Given the description of an element on the screen output the (x, y) to click on. 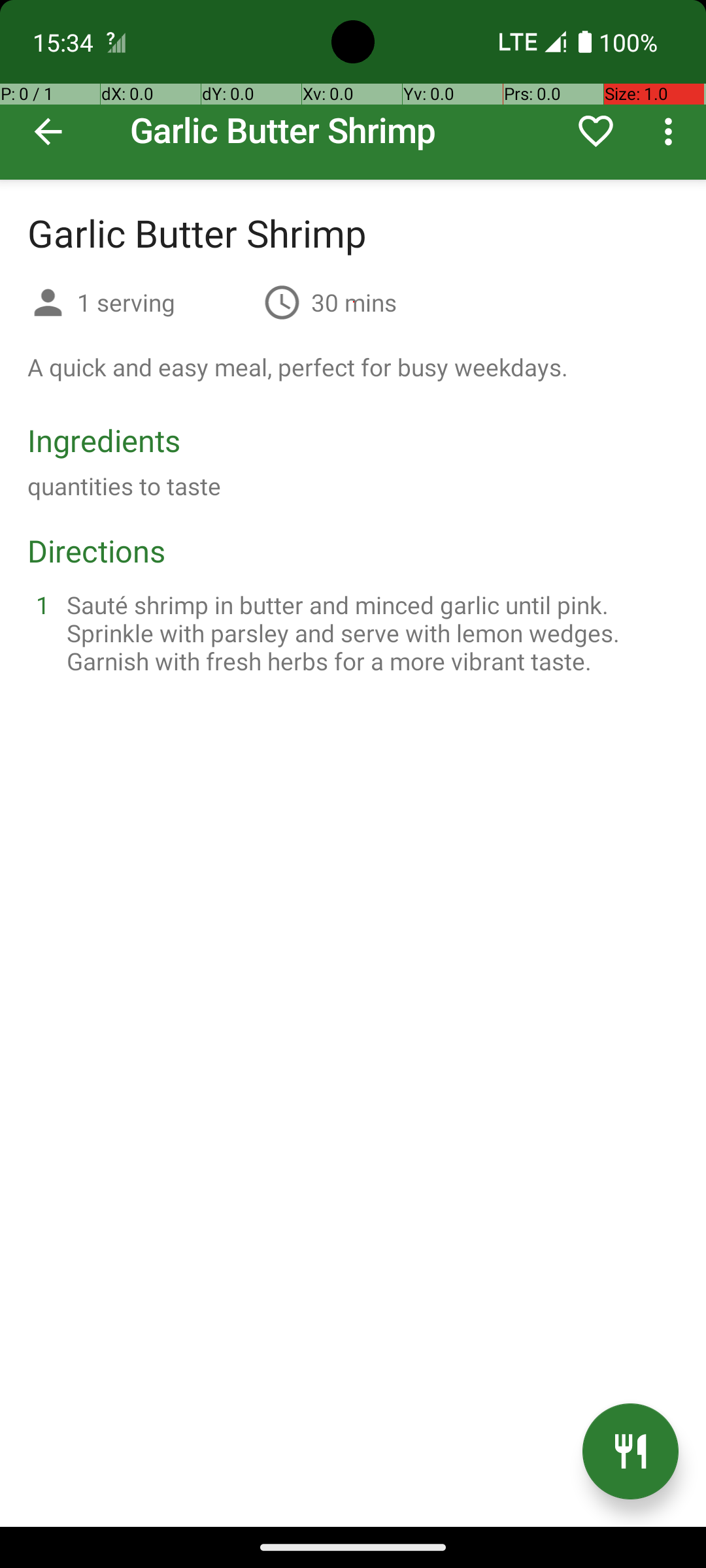
Sauté shrimp in butter and minced garlic until pink. Sprinkle with parsley and serve with lemon wedges. Garnish with fresh herbs for a more vibrant taste. Element type: android.widget.TextView (368, 632)
